Given the description of an element on the screen output the (x, y) to click on. 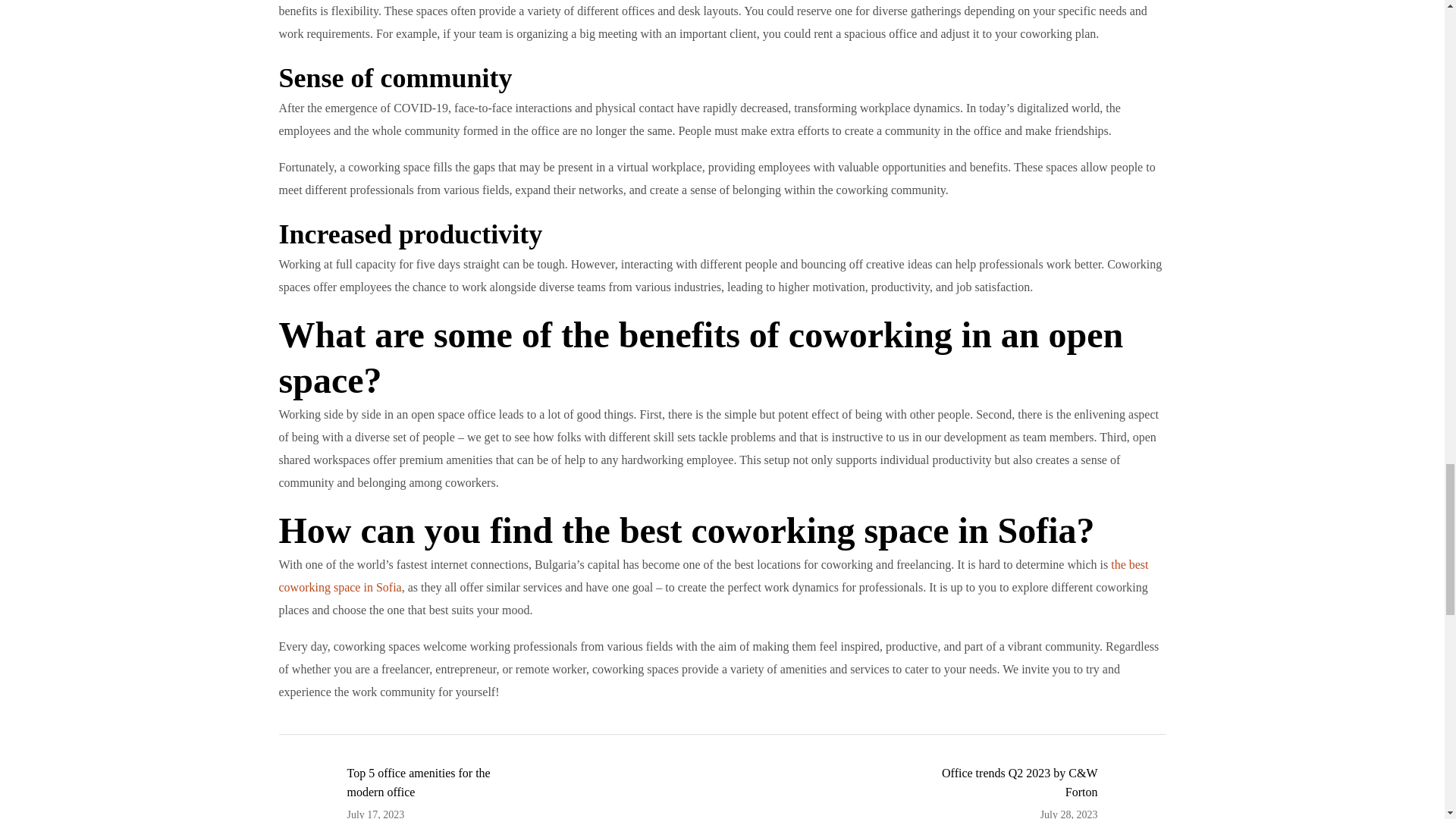
Top 5 office amenities for the modern office (481, 792)
